Given the description of an element on the screen output the (x, y) to click on. 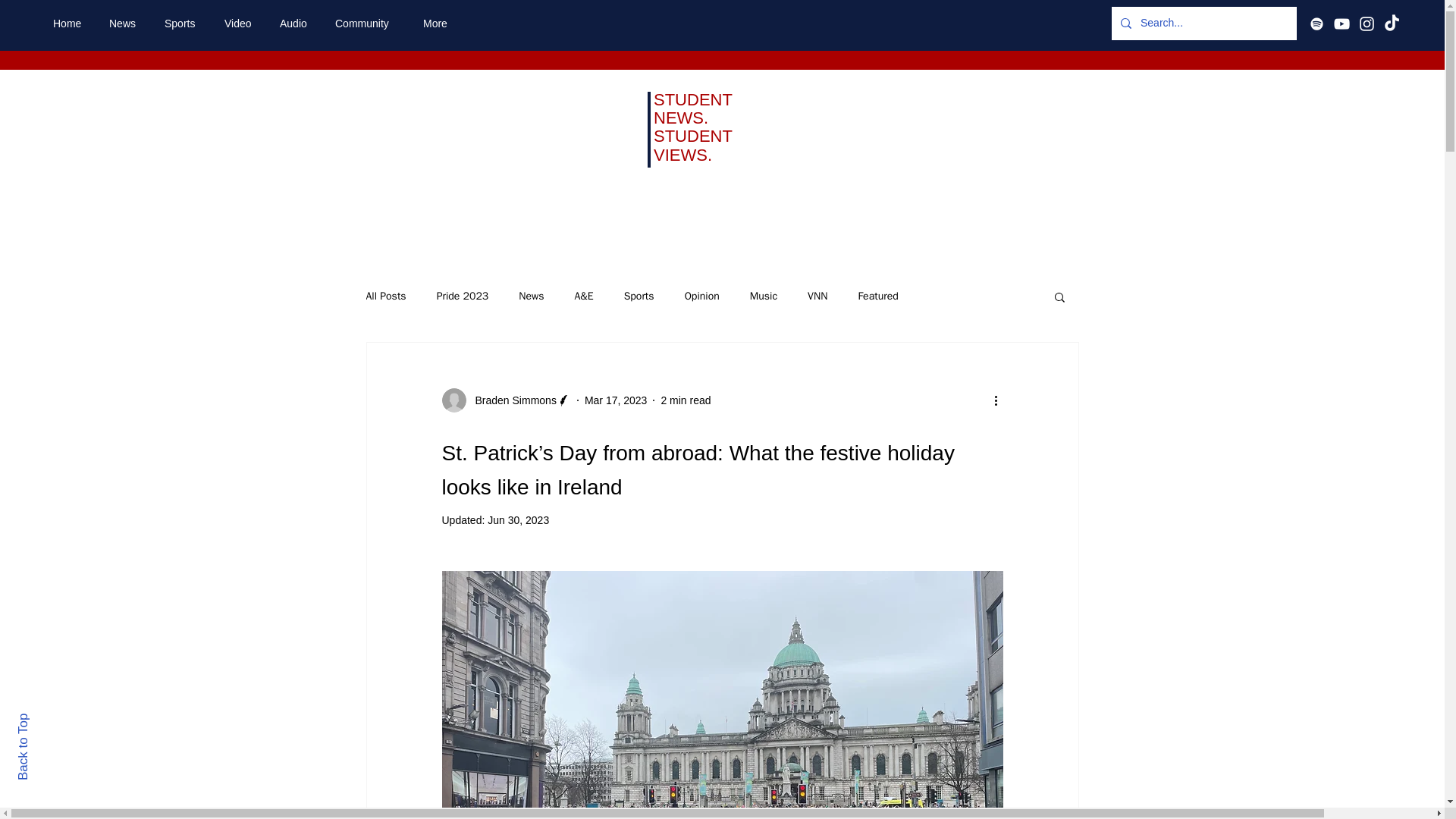
Jun 30, 2023 (517, 520)
News (124, 23)
Braden Simmons (505, 400)
2 min read (685, 399)
Sports (182, 23)
Featured (877, 296)
Mar 17, 2023 (616, 399)
Pride 2023 (462, 296)
Music (763, 296)
News (530, 296)
